Given the description of an element on the screen output the (x, y) to click on. 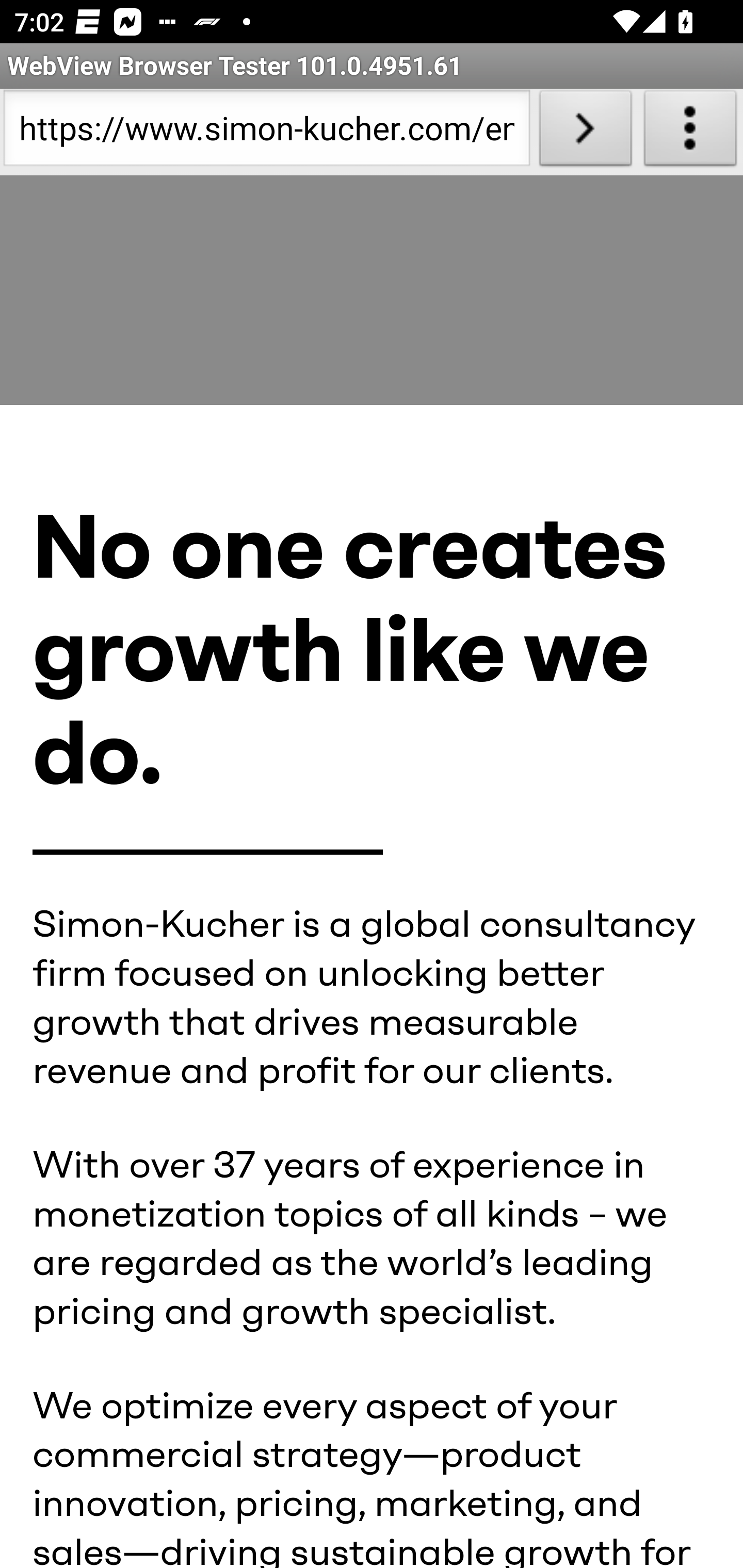
Load URL (585, 132)
About WebView (690, 132)
